Given the description of an element on the screen output the (x, y) to click on. 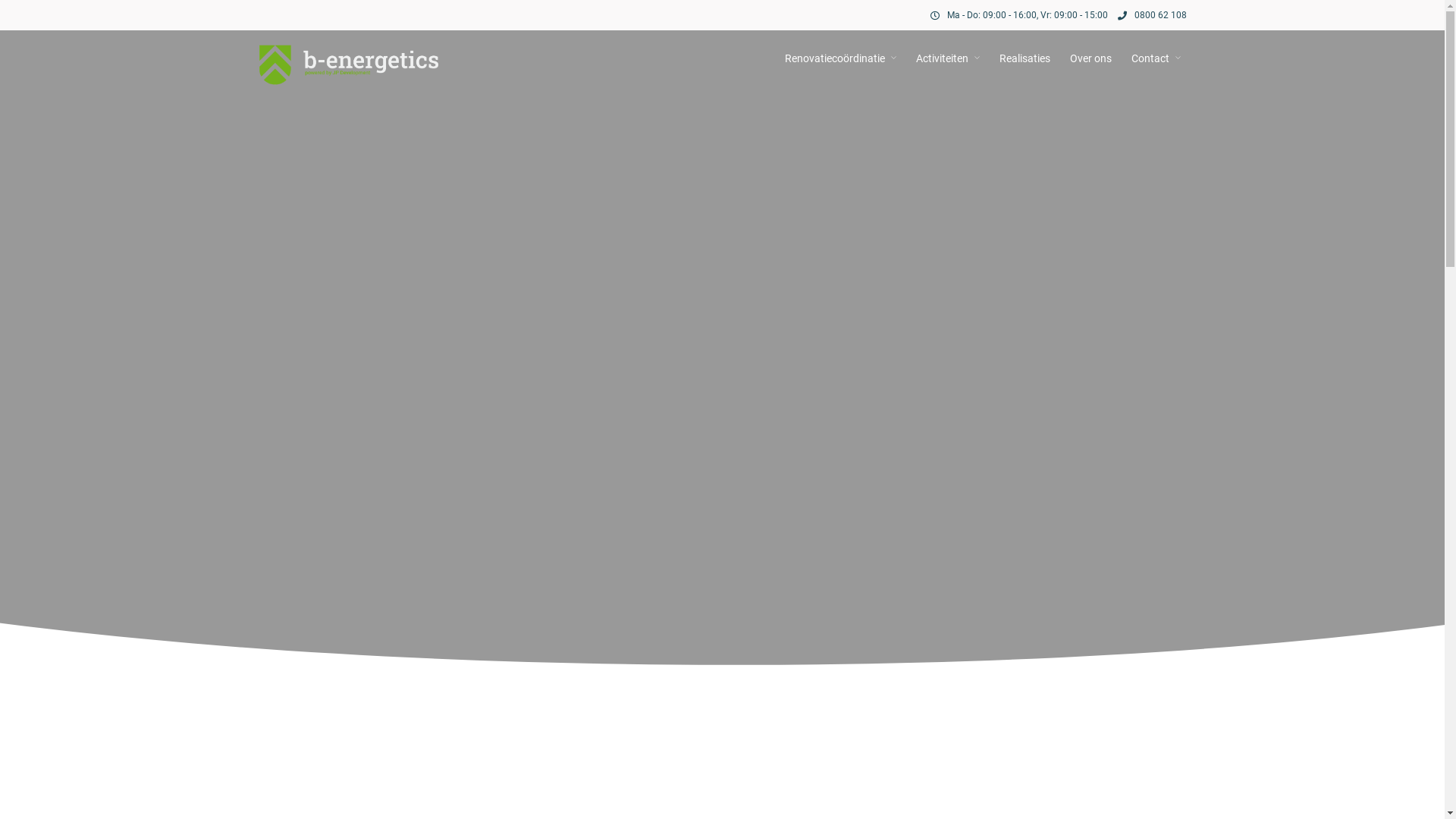
Contact Element type: text (1155, 58)
Over ons Element type: text (1090, 58)
0800 62 108 Element type: text (1151, 14)
Activiteiten Element type: text (947, 58)
Realisaties Element type: text (1024, 58)
